Given the description of an element on the screen output the (x, y) to click on. 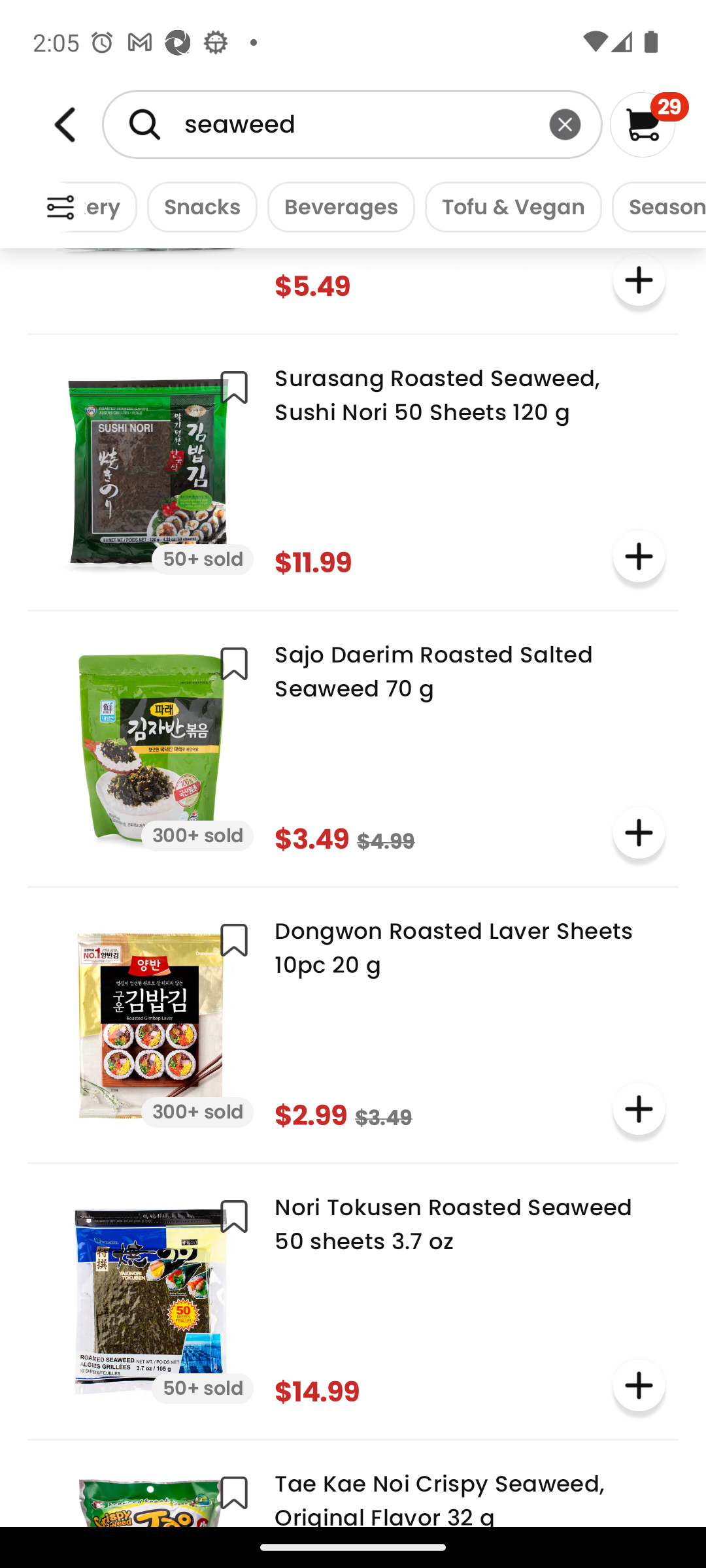
seaweed (351, 124)
29 (649, 124)
Weee! (60, 207)
Bakery (98, 206)
Snacks (196, 206)
Beverages (336, 206)
Tofu & Vegan (508, 206)
Seasoning (654, 206)
$5.49 (352, 281)
